Given the description of an element on the screen output the (x, y) to click on. 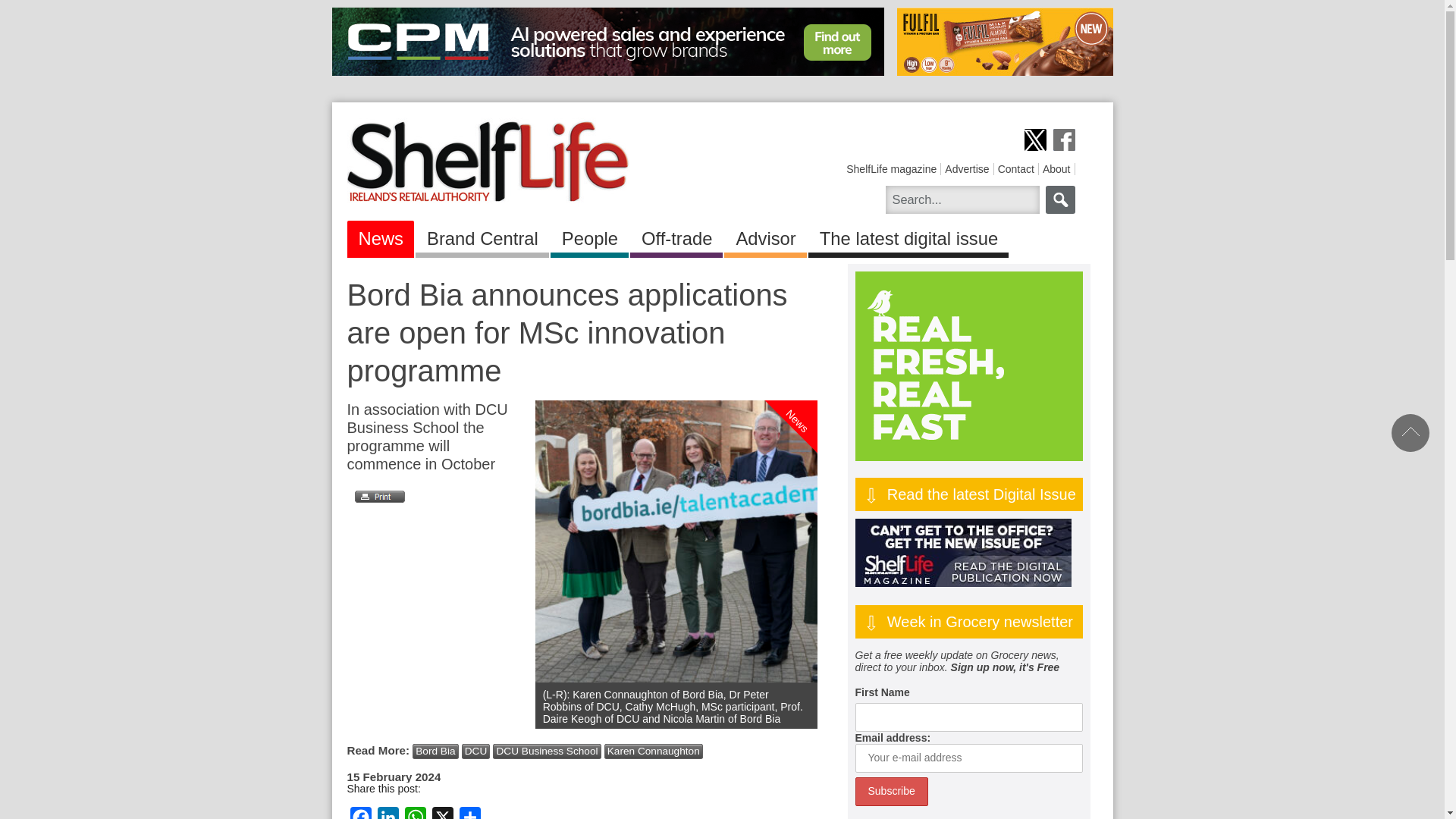
News (380, 236)
ShelfLife magazine (890, 168)
Like on Facebook (1063, 139)
DCU (475, 751)
LinkedIn (387, 812)
News (813, 359)
Facebook (360, 812)
DCU Business School (546, 751)
Bord Bia (435, 751)
Off-trade (676, 236)
